Given the description of an element on the screen output the (x, y) to click on. 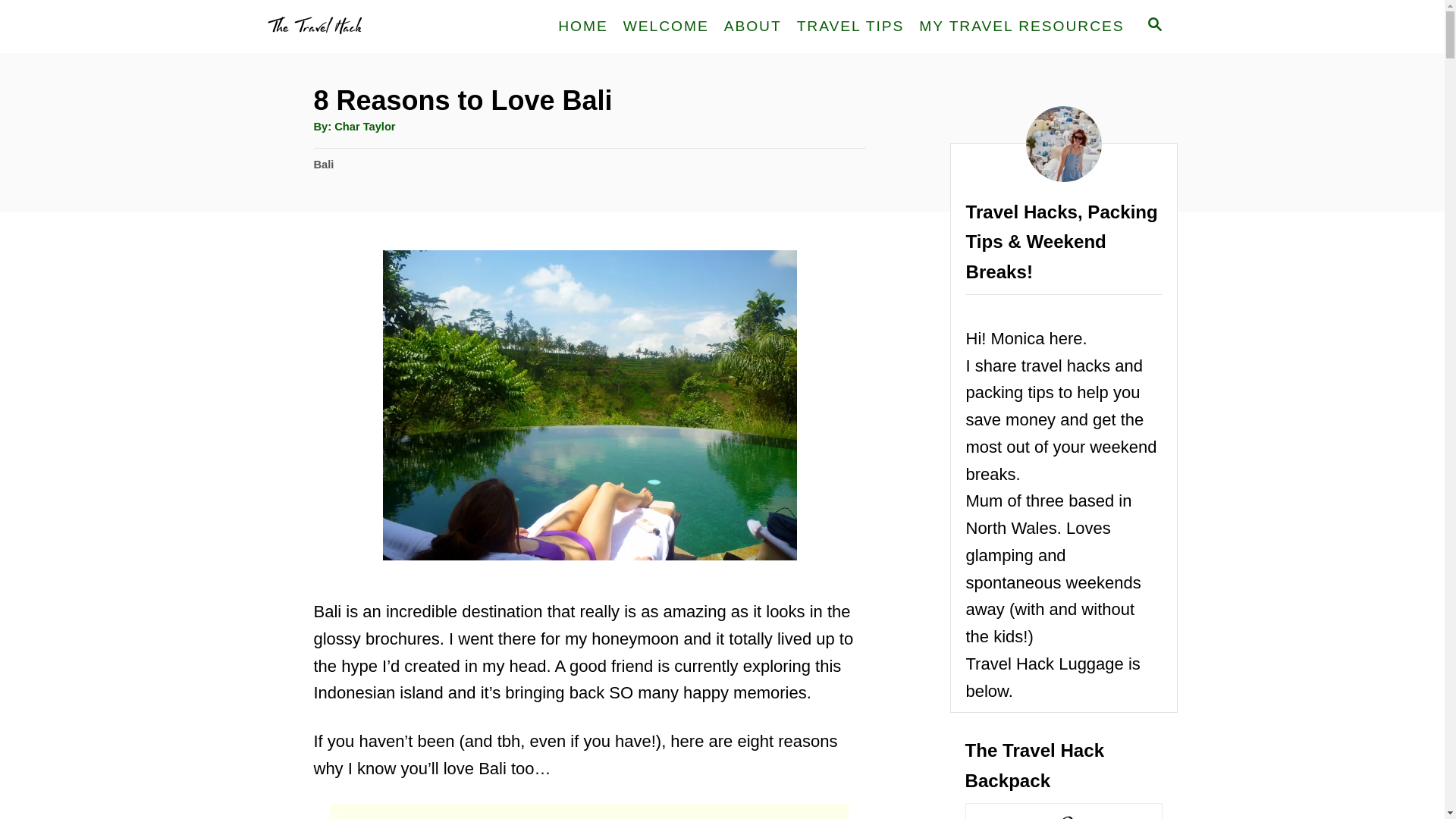
SEARCH (1153, 26)
MY TRAVEL RESOURCES (1021, 26)
Char Taylor (364, 126)
HOME (582, 26)
WELCOME (665, 26)
Bali (324, 164)
TRAVEL TIPS (850, 26)
The Travel Hack (394, 26)
ABOUT (752, 26)
